Given the description of an element on the screen output the (x, y) to click on. 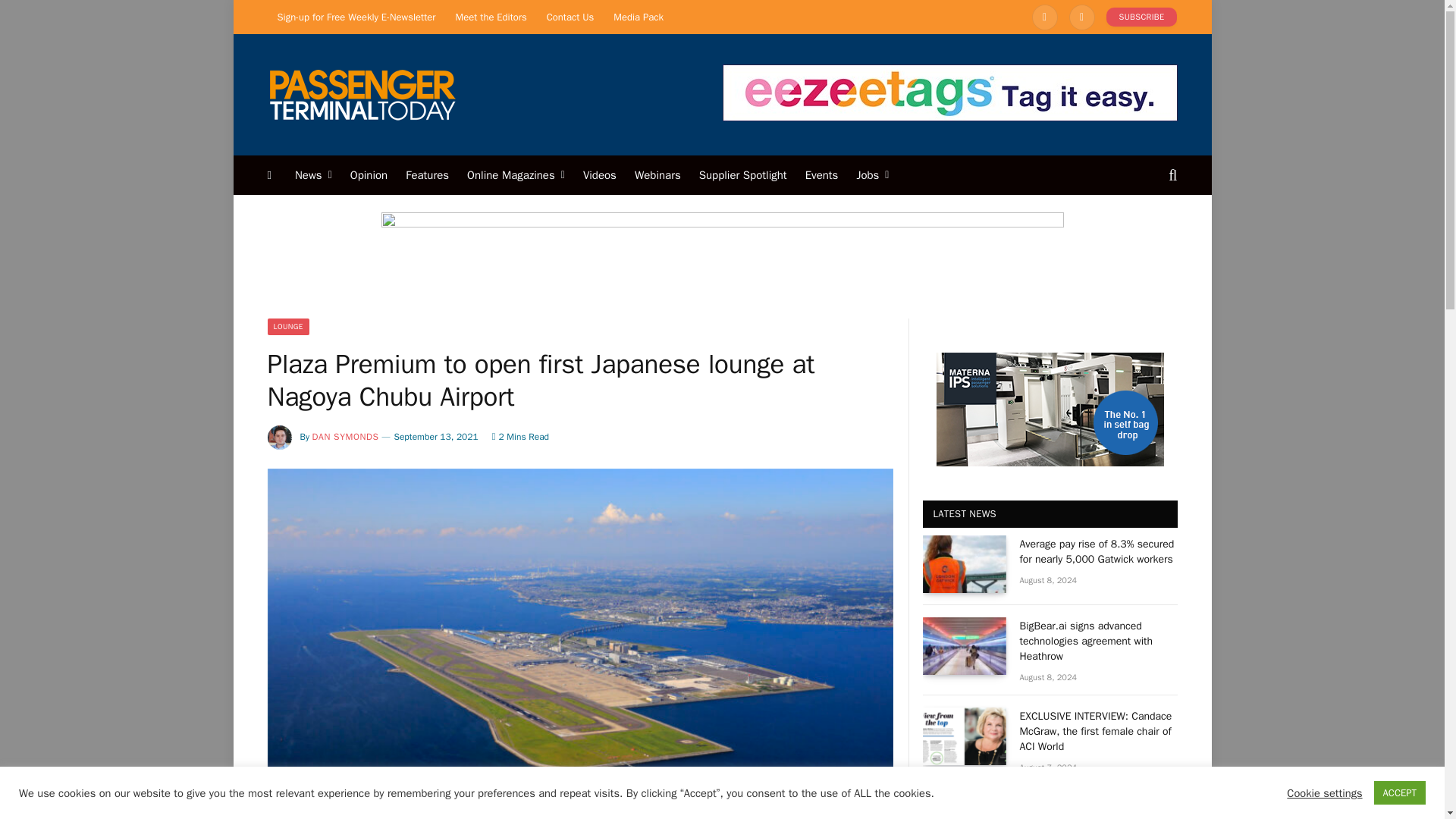
Posts by Dan Symonds (345, 436)
Passenger Terminal Today (361, 94)
